Given the description of an element on the screen output the (x, y) to click on. 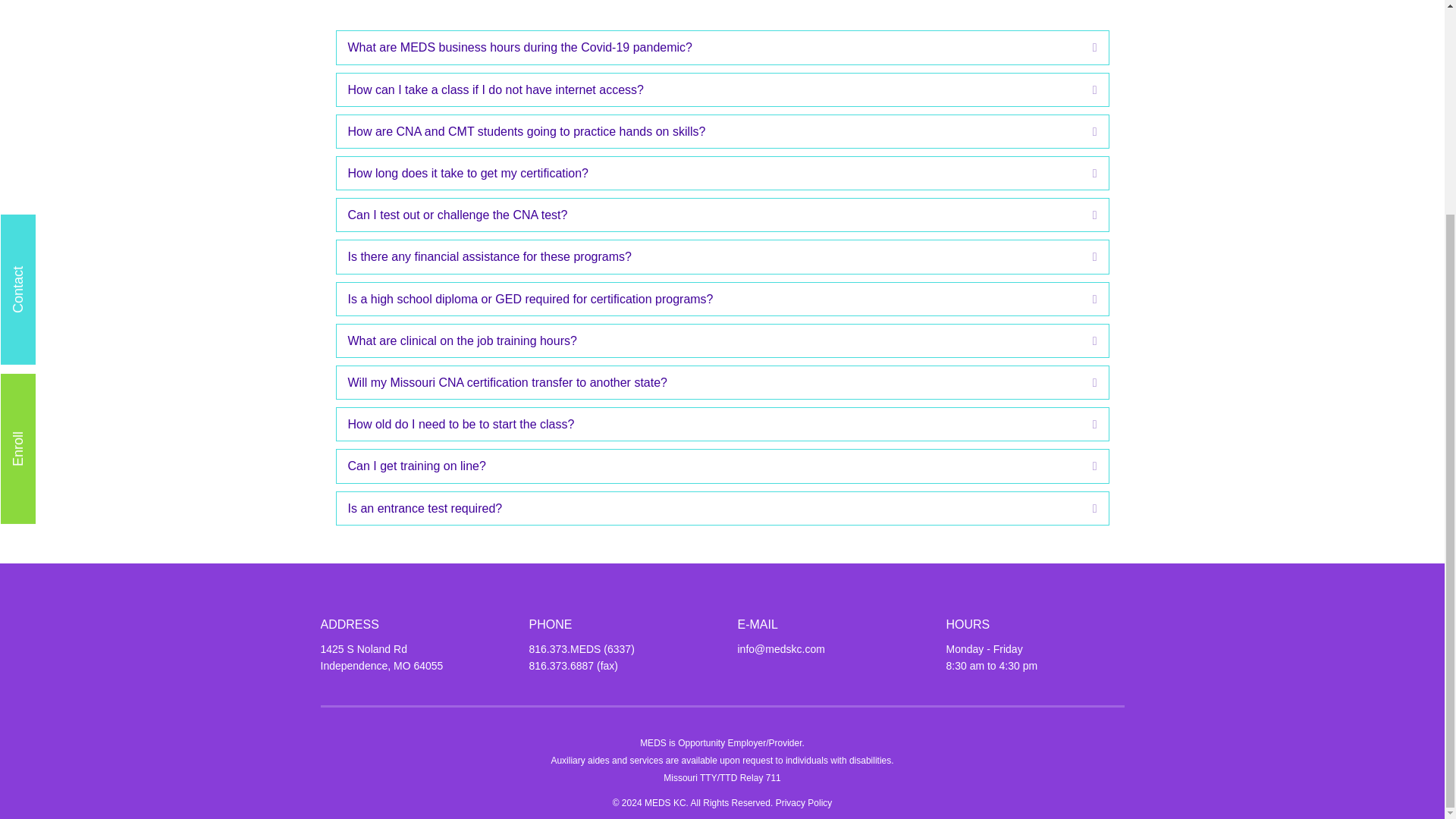
Can I test out or challenge the CNA test? (707, 214)
Is there any financial assistance for these programs? (707, 256)
What are clinical on the job training hours? (707, 340)
How can I take a class if I do not have internet access? (707, 89)
Expand (1083, 47)
Expand (1083, 89)
Expand (1083, 172)
What are MEDS business hours during the Covid-19 pandemic? (707, 47)
Expand (1083, 131)
Expand (1083, 340)
How long does it take to get my certification? (707, 172)
Expand (1083, 256)
